Given the description of an element on the screen output the (x, y) to click on. 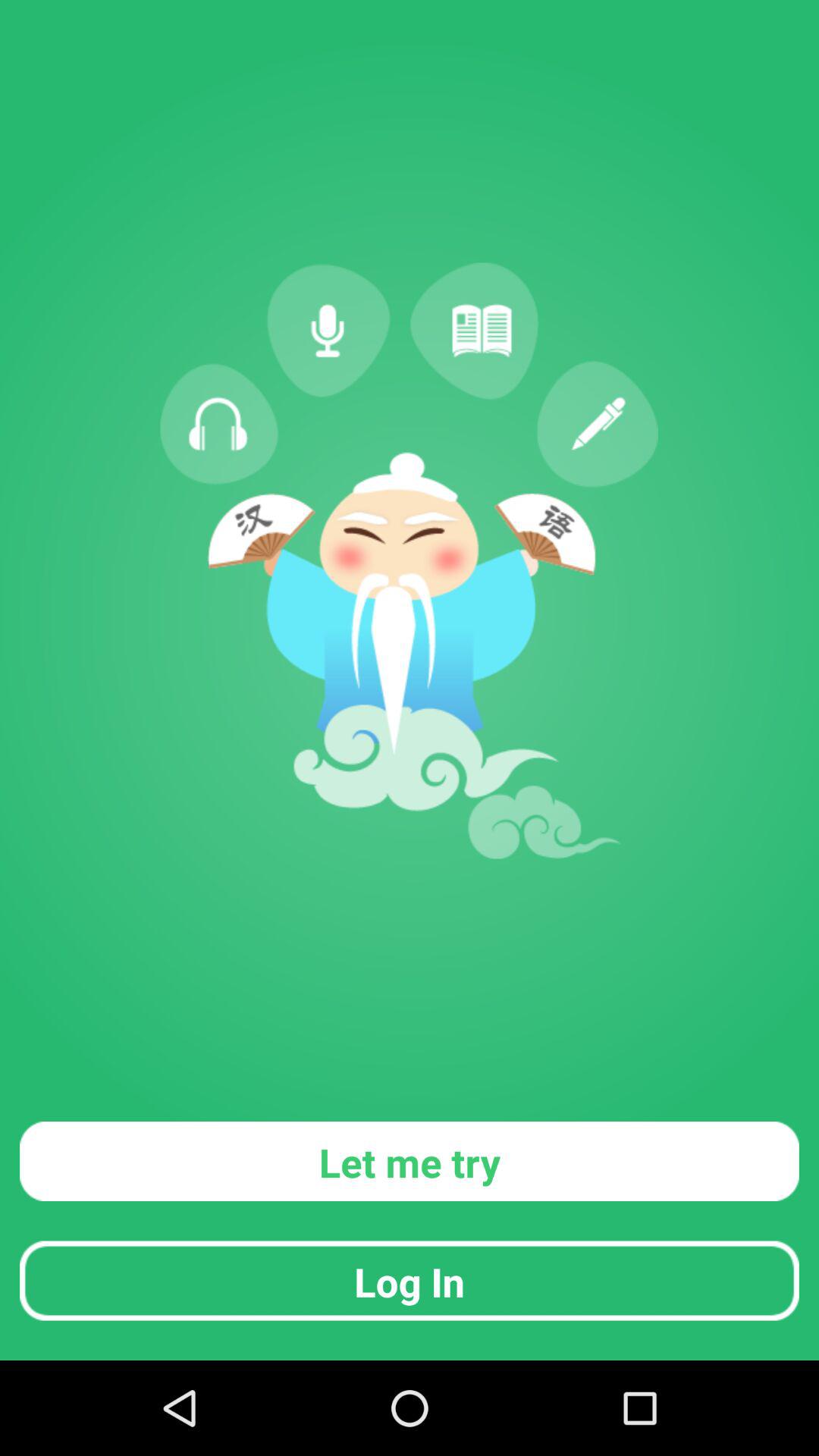
turn on log in button (409, 1280)
